Given the description of an element on the screen output the (x, y) to click on. 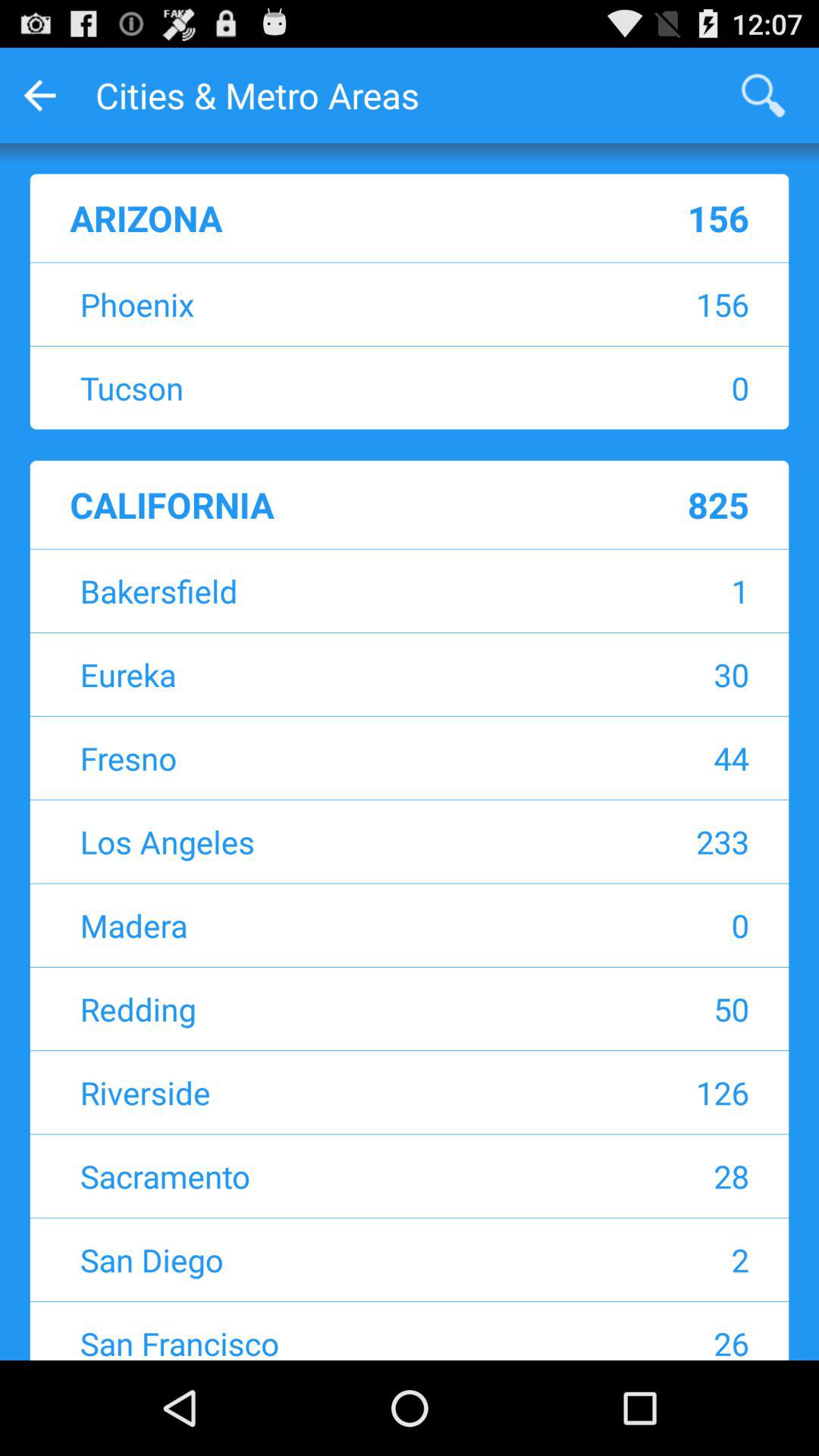
open app next to 1 icon (314, 590)
